Given the description of an element on the screen output the (x, y) to click on. 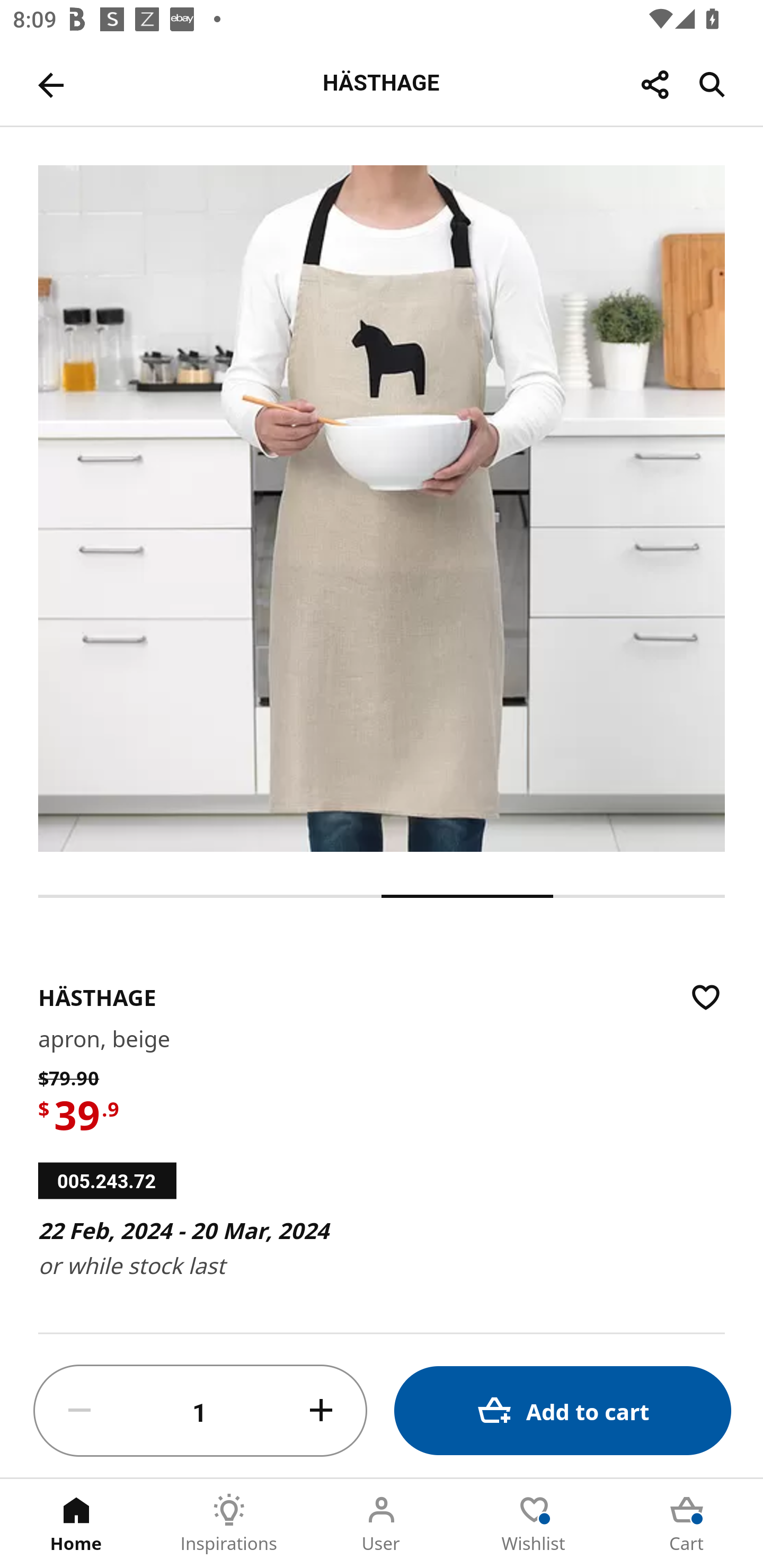
Add to cart (562, 1410)
1 (200, 1411)
Home
Tab 1 of 5 (76, 1522)
Inspirations
Tab 2 of 5 (228, 1522)
User
Tab 3 of 5 (381, 1522)
Wishlist
Tab 4 of 5 (533, 1522)
Cart
Tab 5 of 5 (686, 1522)
